Given the description of an element on the screen output the (x, y) to click on. 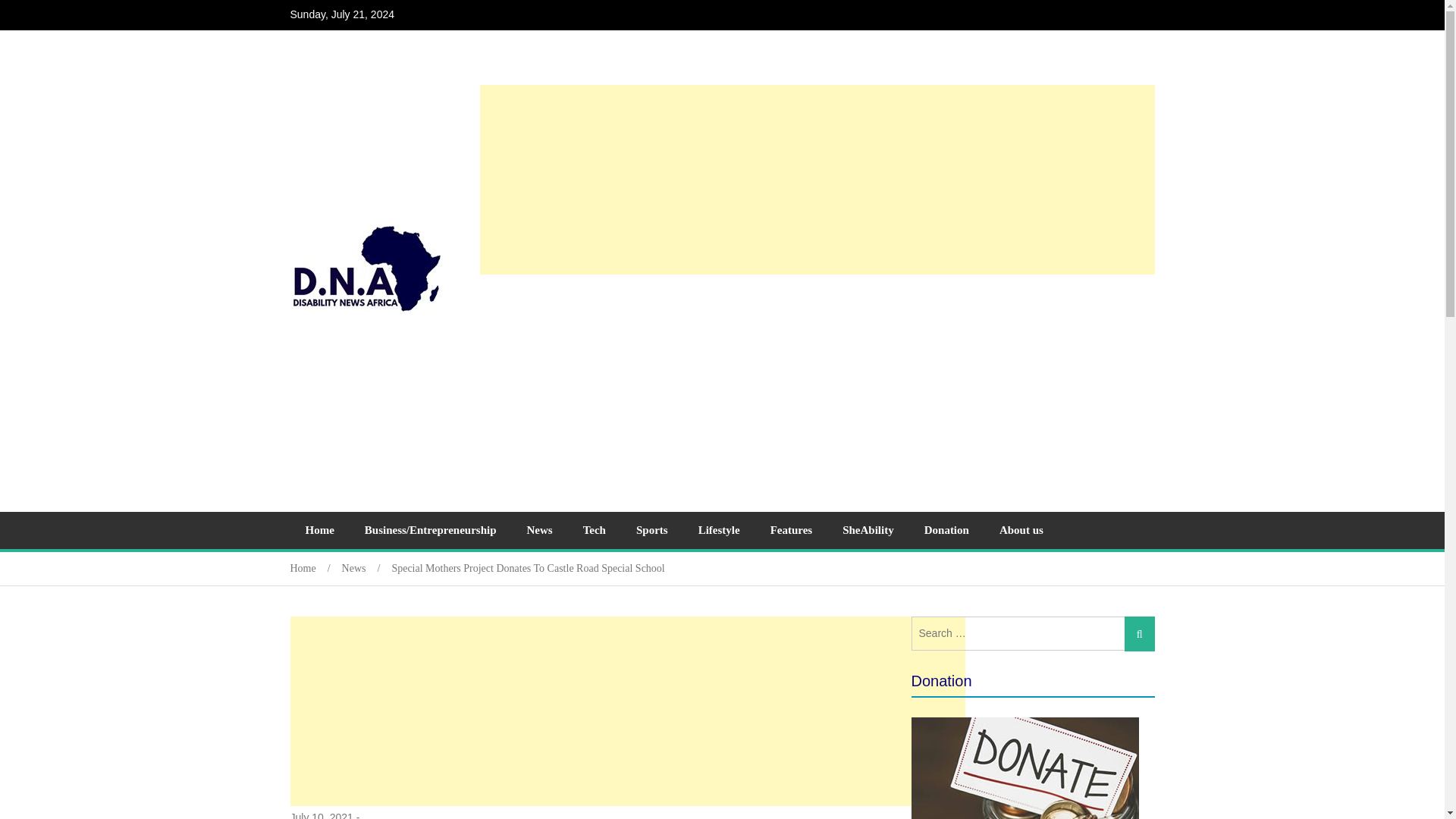
Home (319, 529)
Lifestyle (718, 529)
Tech (594, 529)
Features (791, 529)
Home (314, 568)
Advertisement (626, 710)
July 10, 2021 (320, 814)
Advertisement (816, 386)
About us (1021, 529)
News (366, 568)
SheAbility (867, 529)
Sports (651, 529)
Donation (946, 529)
News (539, 529)
